Given the description of an element on the screen output the (x, y) to click on. 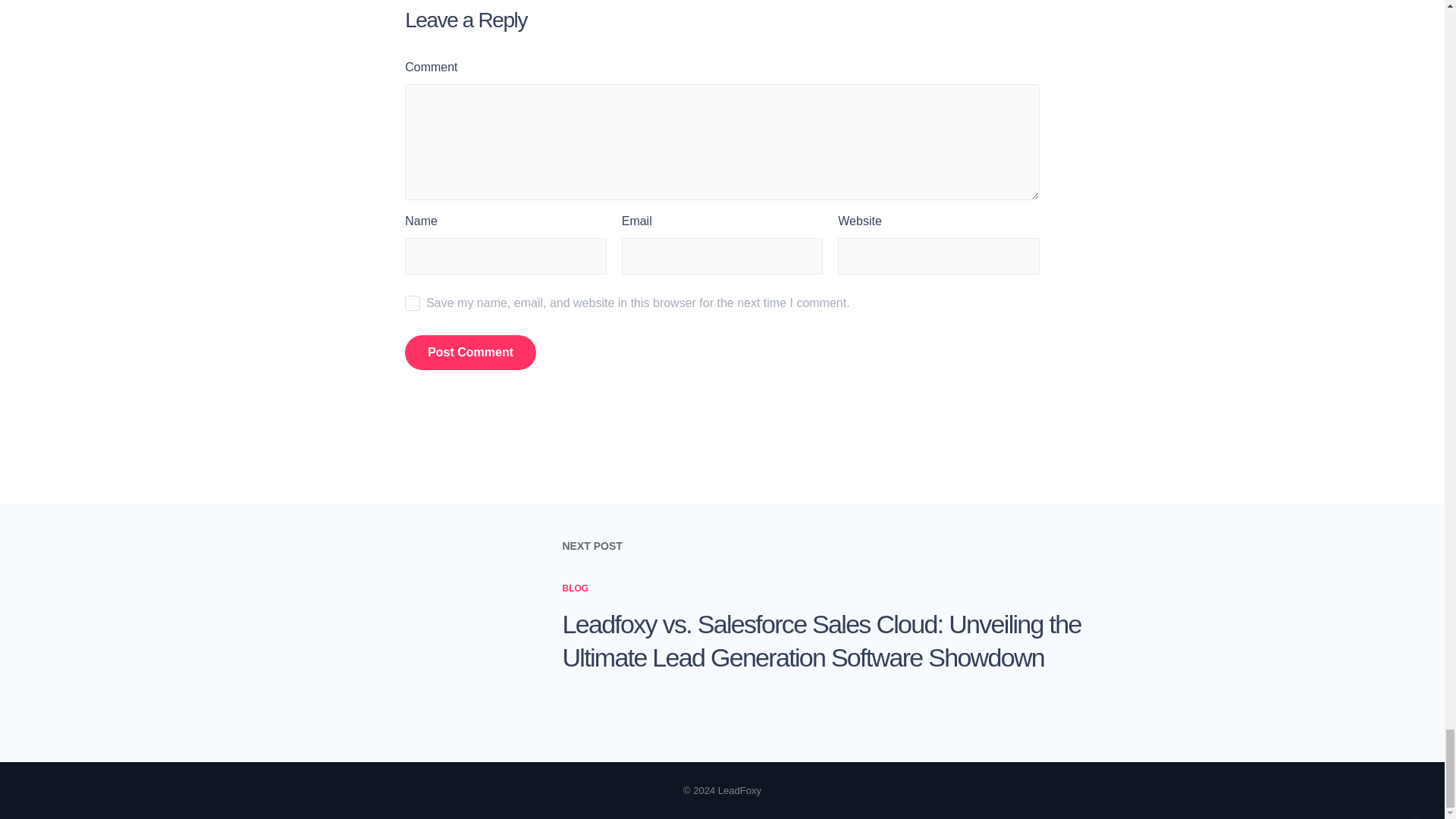
Post Comment (469, 352)
yes (412, 303)
